Given the description of an element on the screen output the (x, y) to click on. 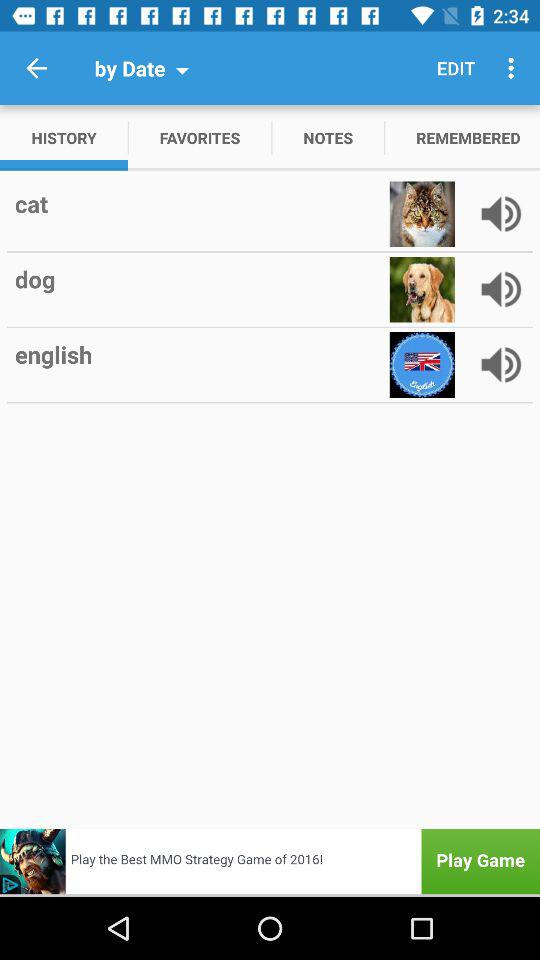
turn on item to the right of the favorites icon (327, 137)
